Given the description of an element on the screen output the (x, y) to click on. 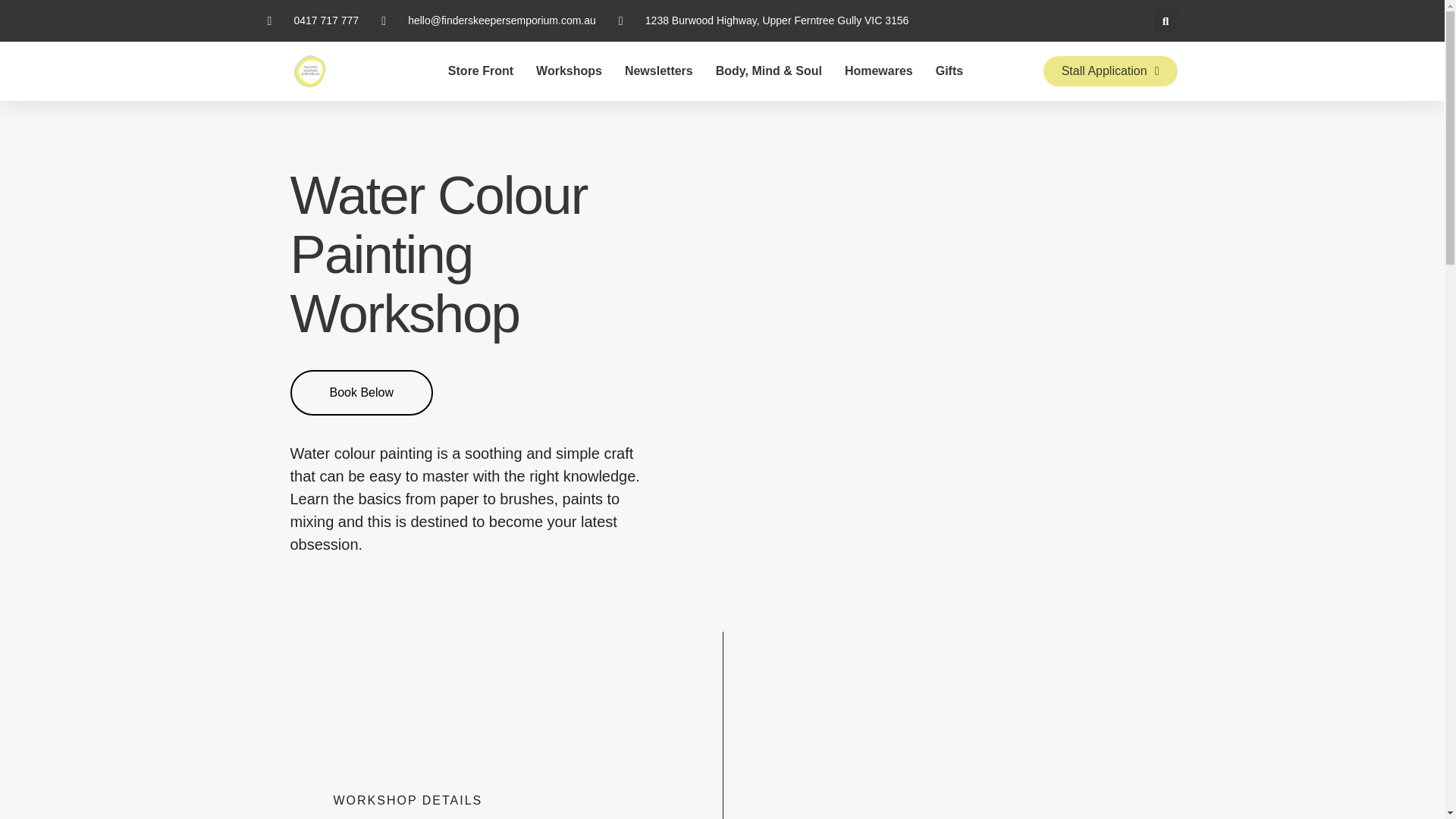
Newsletters (658, 71)
Store Front (480, 71)
Homewares (878, 71)
Workshops (568, 71)
